Given the description of an element on the screen output the (x, y) to click on. 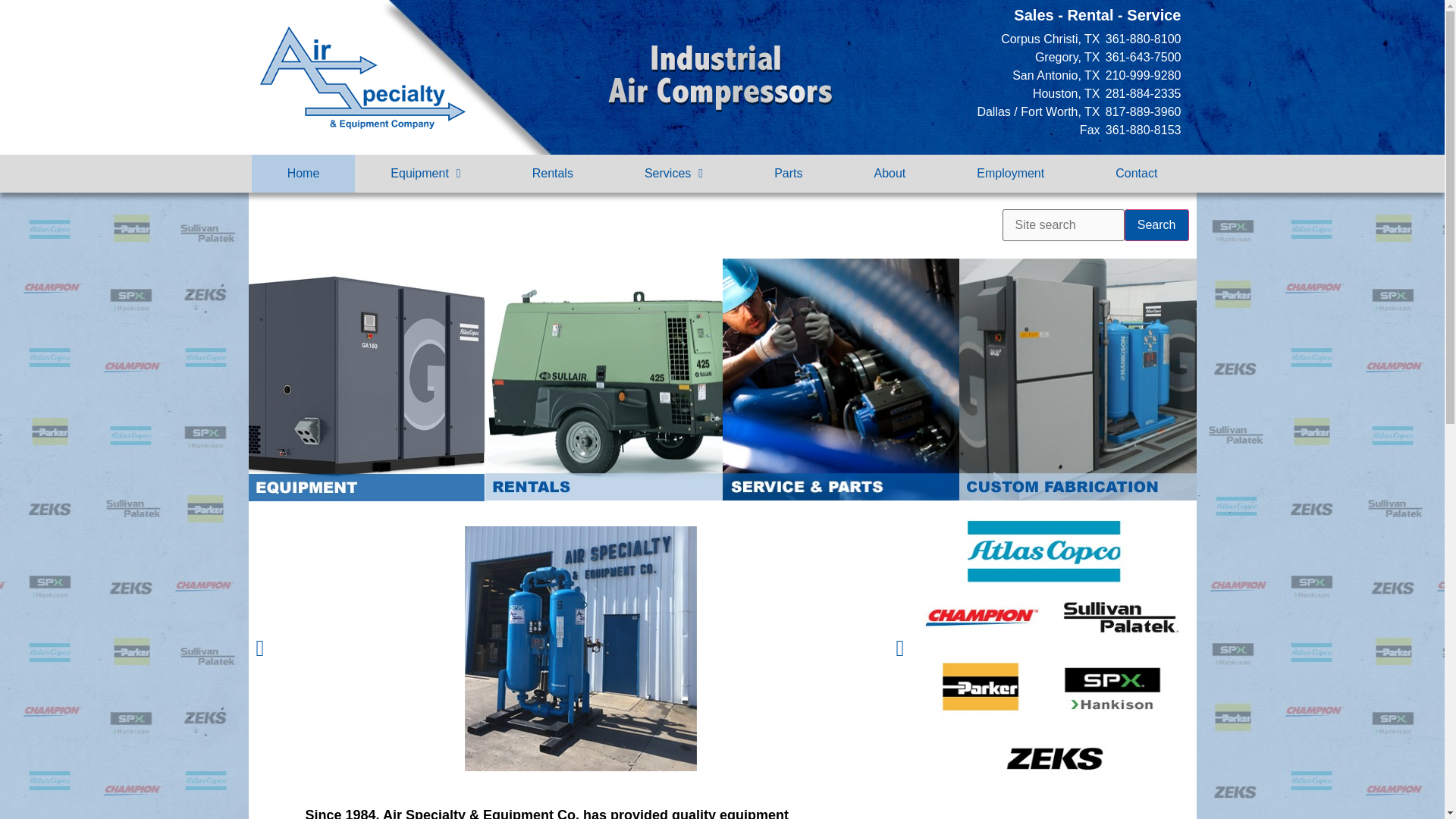
361-880-8153 (1140, 130)
Employment (1010, 173)
Parts (788, 173)
Equipment (425, 173)
Contact (1136, 173)
Search (1156, 224)
361-643-7500 (1140, 57)
281-884-2335 (1140, 94)
About (889, 173)
Houston, TX (997, 94)
Gregory, TX (997, 57)
361-880-8100 (1140, 39)
Corpus Christi, TX (997, 39)
Rentals (552, 173)
San Antonio, TX (997, 75)
